Given the description of an element on the screen output the (x, y) to click on. 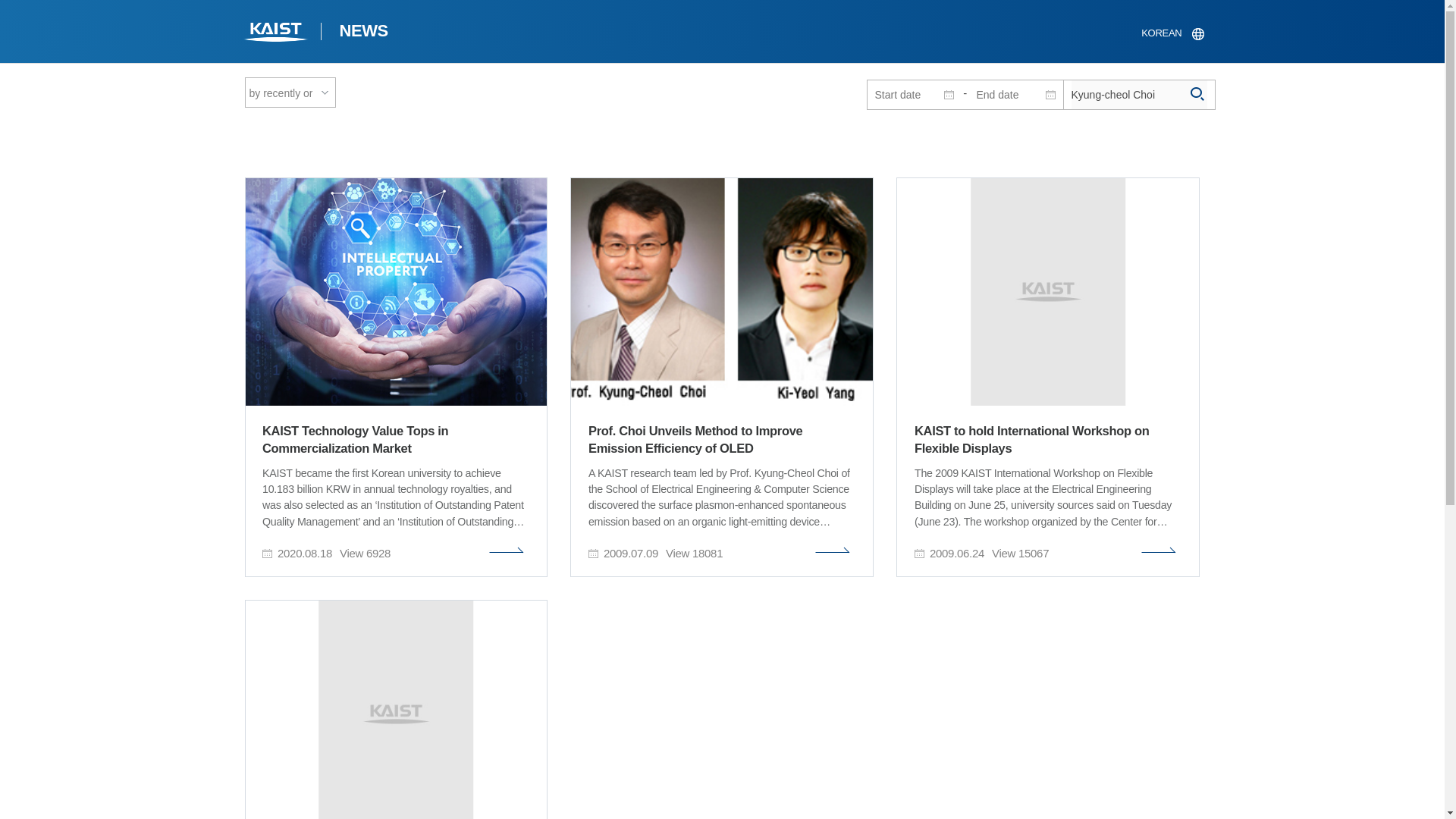
Input a Keyword (1138, 94)
KOREAN (1171, 33)
KAIST (276, 33)
Kyung-cheol Choi (1138, 94)
NEWS (363, 33)
